Given the description of an element on the screen output the (x, y) to click on. 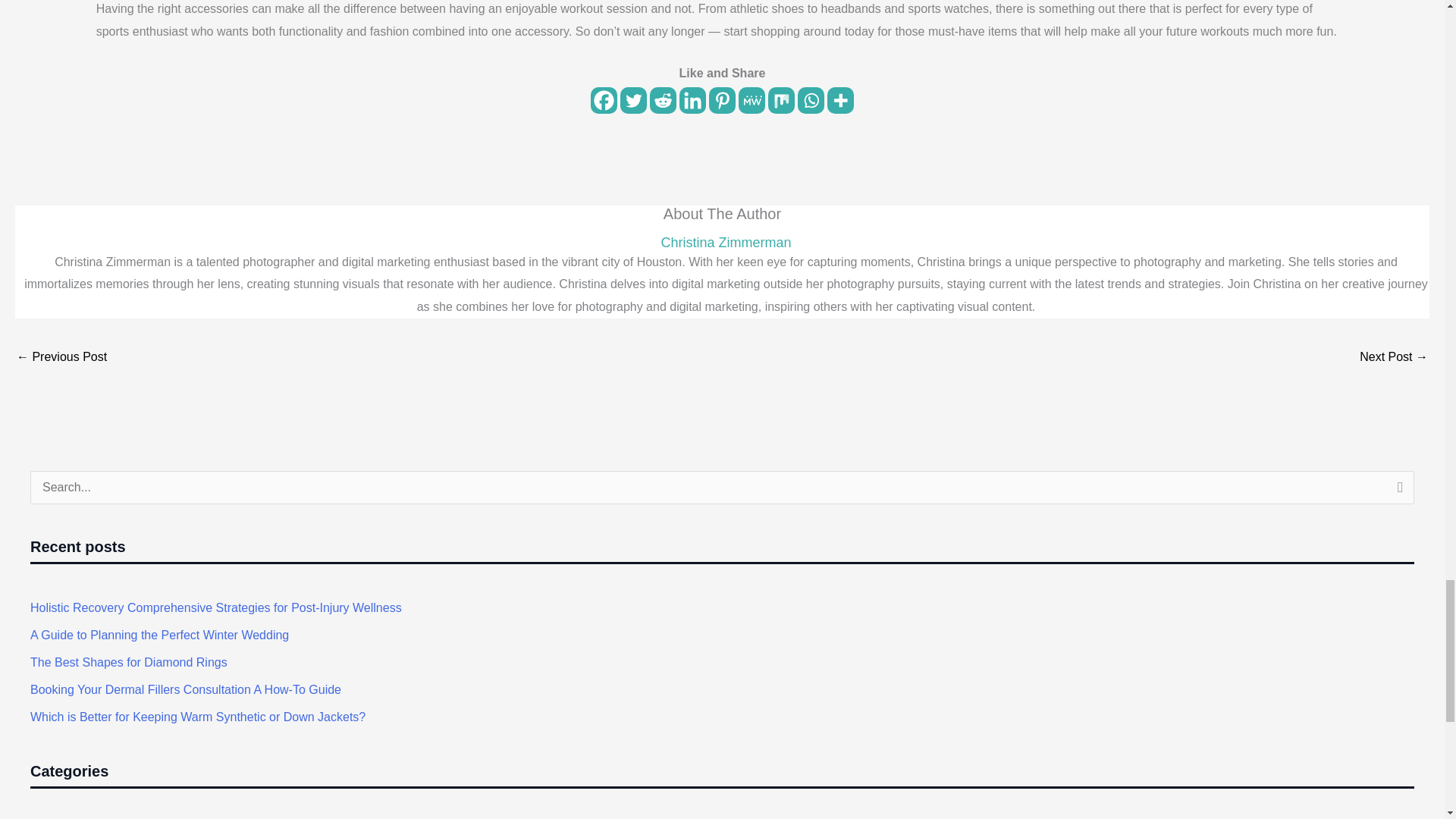
More (840, 99)
Mix (781, 99)
Which is Better for Keeping Warm Synthetic or Down Jackets? (197, 716)
Twitter (633, 99)
Facebook (604, 99)
Layer It Up! Fashion Tips for Layering Clothes (61, 357)
Whatsapp (810, 99)
Linkedin (692, 99)
Pinterest (722, 99)
Booking Your Dermal Fillers Consultation A How-To Guide (185, 689)
MeWe (751, 99)
Reddit (663, 99)
The Best Shapes for Diamond Rings (128, 662)
